Given the description of an element on the screen output the (x, y) to click on. 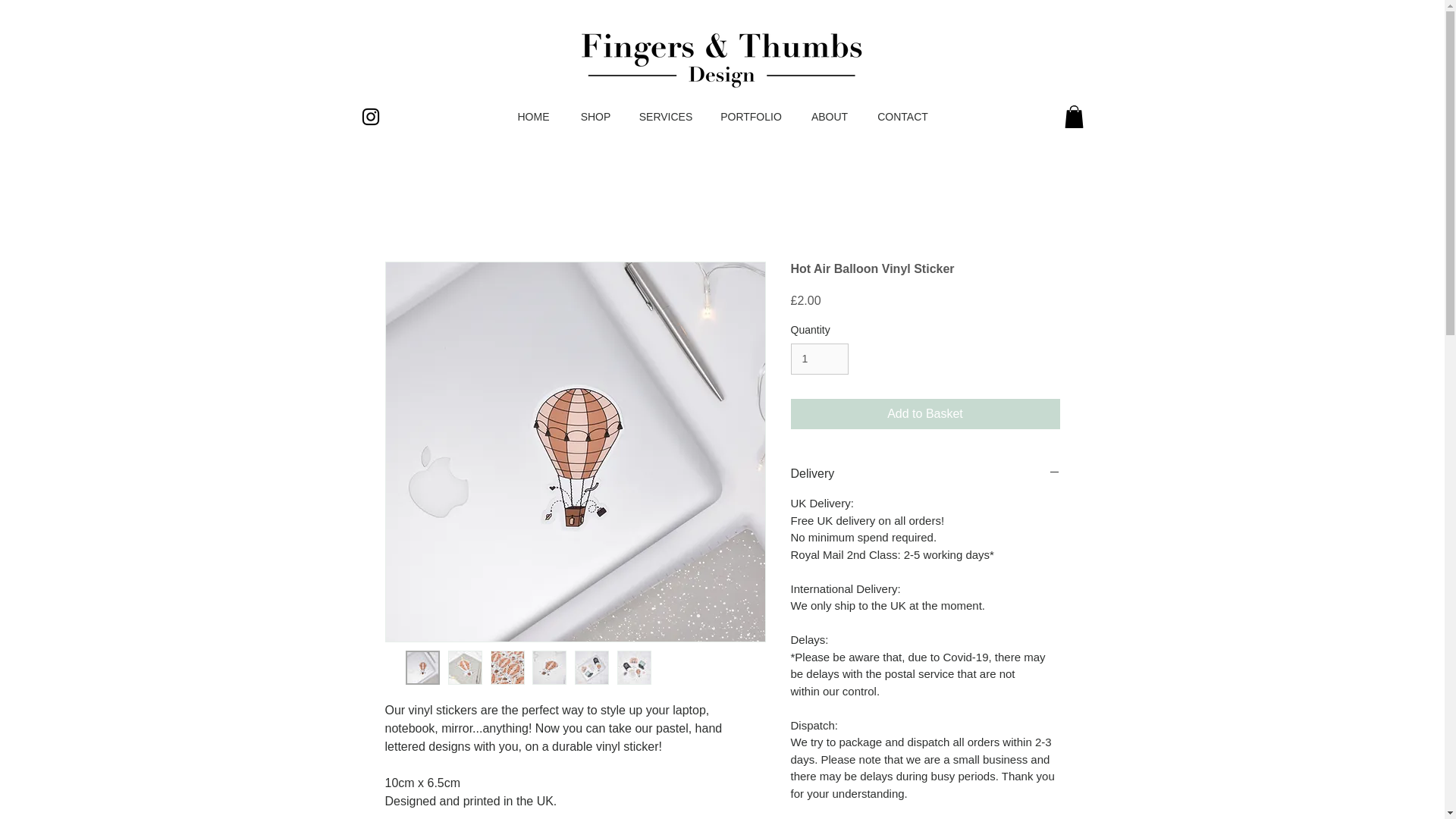
SERVICES (666, 116)
Delivery (924, 474)
SHOP (596, 116)
Add to Basket (924, 413)
PORTFOLIO (750, 116)
ABOUT (828, 116)
HOME (534, 116)
1 (818, 358)
CONTACT (903, 116)
